Given the description of an element on the screen output the (x, y) to click on. 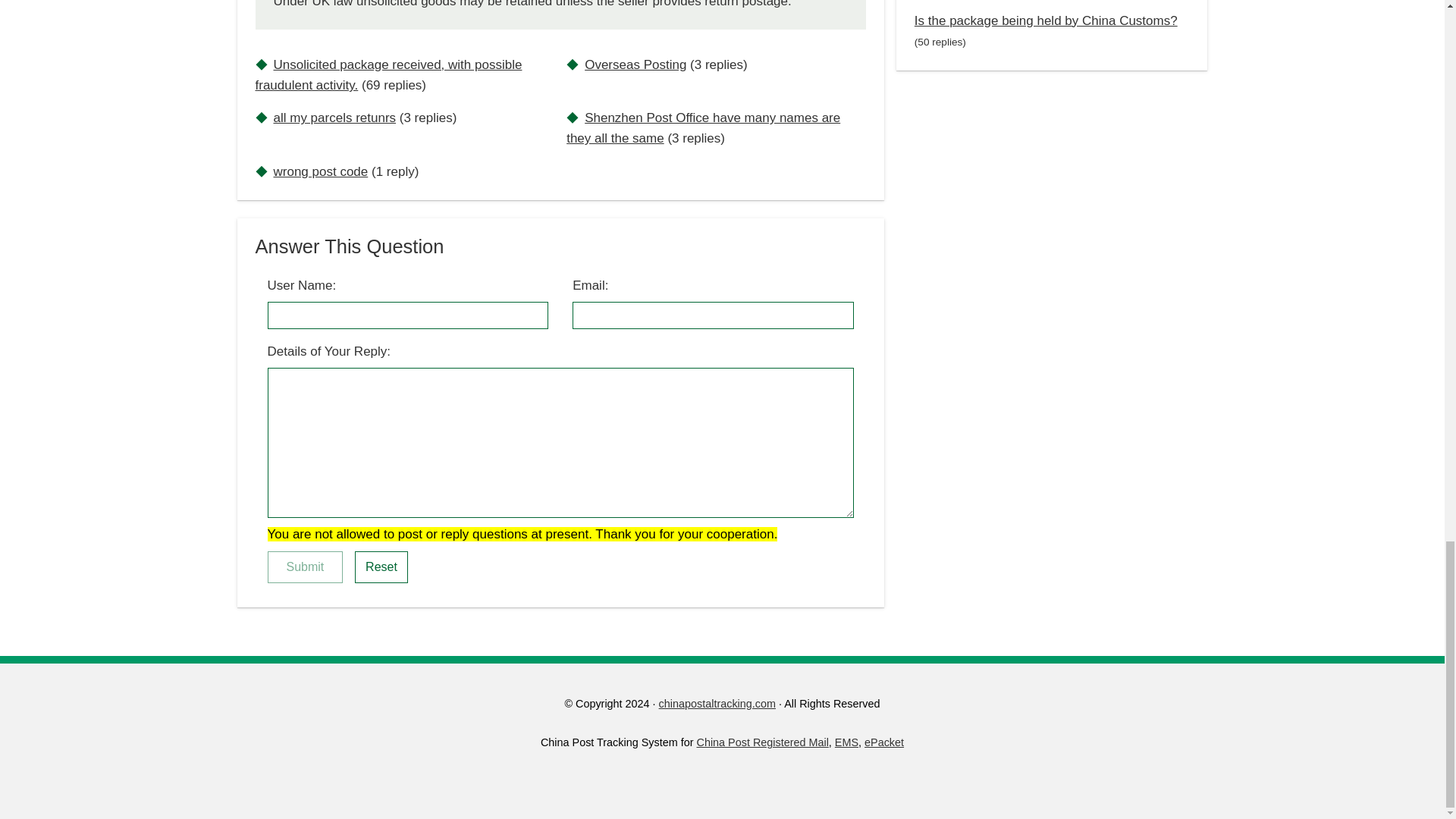
wrong post code (320, 171)
all my parcels retunrs (334, 117)
Overseas Posting (635, 64)
Shenzhen Post Office have many names are they all the same (703, 127)
all my parcels retunrs (334, 117)
Overseas Posting (635, 64)
Shenzhen Post Office have many names are they all the same (703, 127)
